Given the description of an element on the screen output the (x, y) to click on. 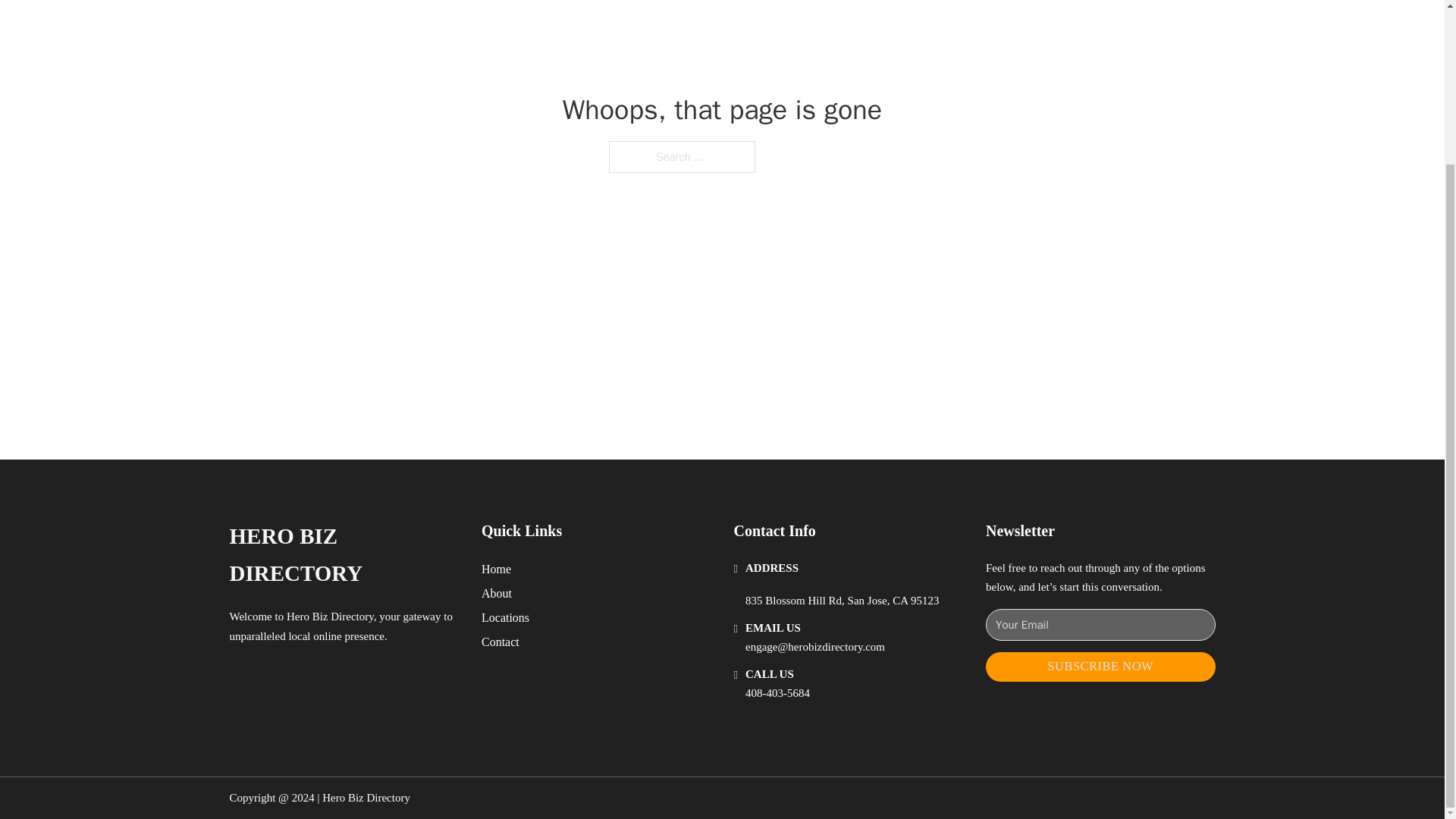
Contact (500, 641)
408-403-5684 (777, 693)
Home (496, 568)
HERO BIZ DIRECTORY (343, 554)
SUBSCRIBE NOW (1100, 666)
About (496, 593)
Locations (505, 617)
